Given the description of an element on the screen output the (x, y) to click on. 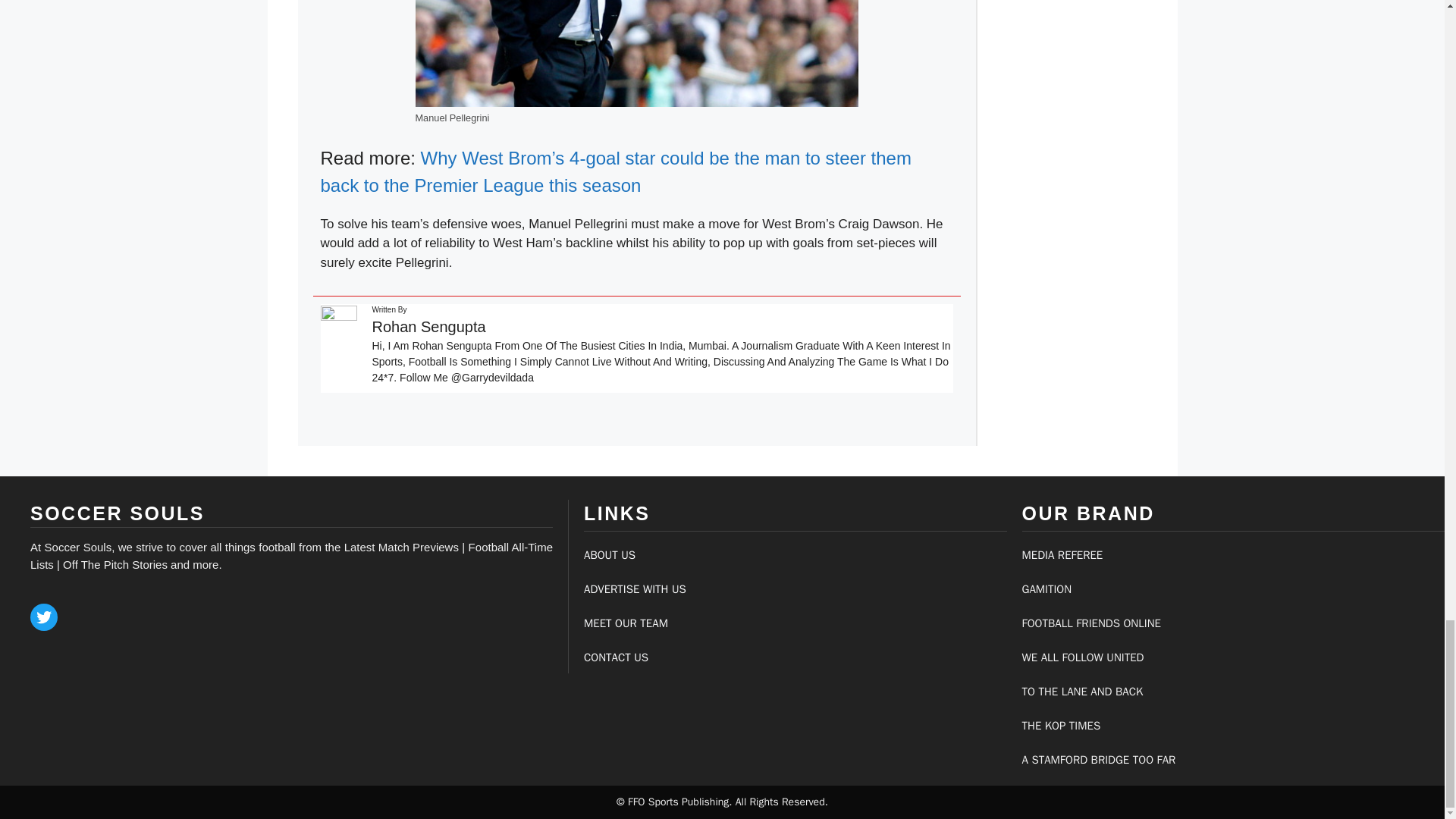
MEDIA REFEREE (1062, 554)
Twitter (44, 616)
MEET OUR TEAM (625, 622)
A STAMFORD BRIDGE TOO FAR (1099, 759)
FOOTBALL FRIENDS ONLINE (1091, 622)
ABOUT US (608, 554)
GAMITION (1046, 589)
THE KOP TIMES (1061, 725)
WE ALL FOLLOW UNITED (1083, 657)
ADVERTISE WITH US (634, 589)
Rohan Sengupta (427, 326)
CONTACT US (615, 657)
TO THE LANE AND BACK (1082, 691)
